Given the description of an element on the screen output the (x, y) to click on. 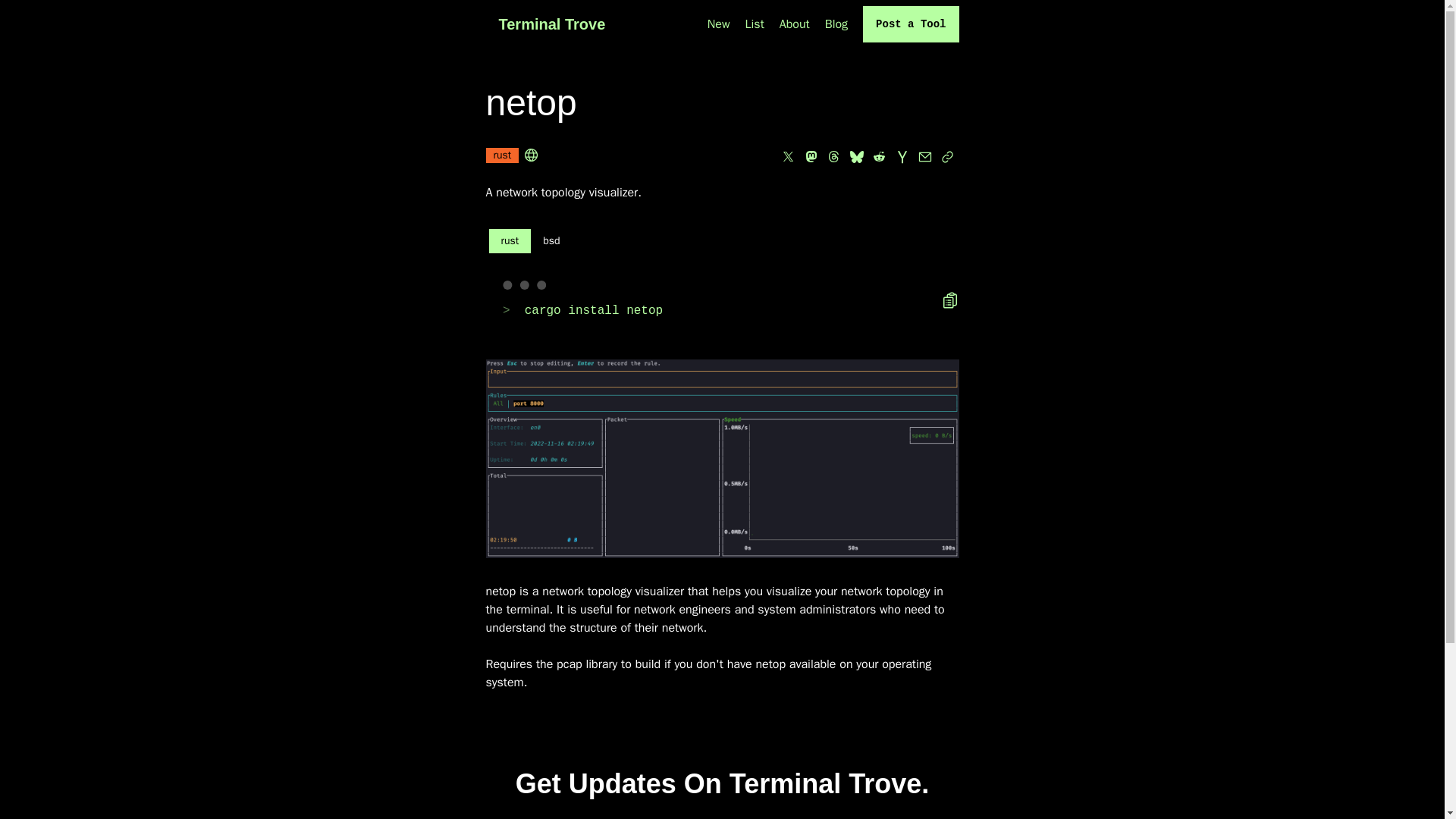
About (793, 24)
share this page on mastodon (810, 156)
Post a Tool (910, 23)
List (754, 24)
New (718, 24)
bsd (551, 241)
share this page on reddit (878, 156)
Terminal Trove (550, 23)
share this page on hacker news (900, 156)
Terminal Trove Home (550, 23)
share this page on x (787, 156)
rust (509, 241)
See an example update. (812, 816)
rust (501, 156)
share this page on threads (833, 156)
